Given the description of an element on the screen output the (x, y) to click on. 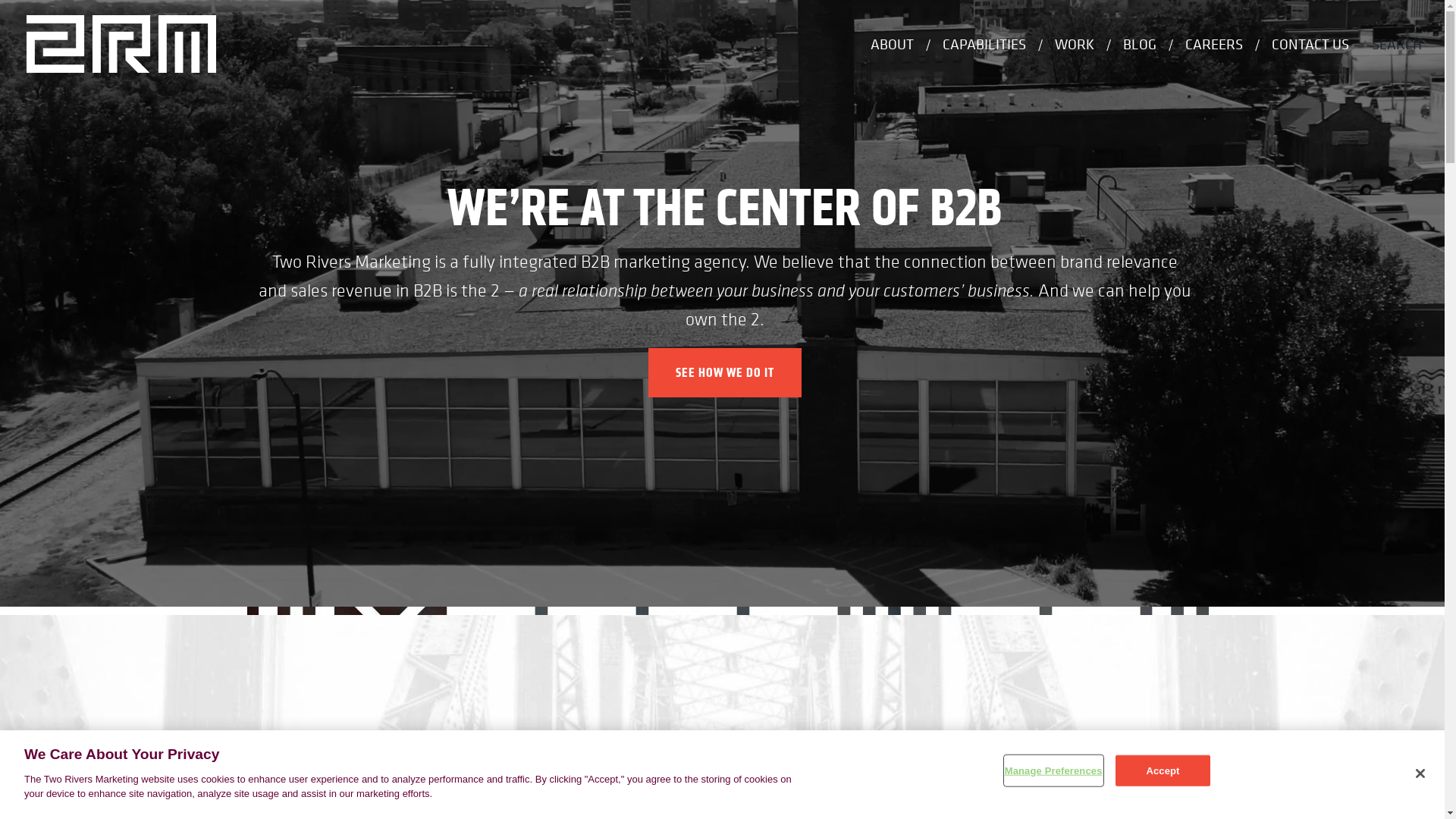
CAREERS Element type: text (1213, 43)
BLOG Element type: text (1139, 43)
Accept Element type: text (1162, 770)
SEE HOW WE DO IT Element type: text (724, 372)
Manage Preferences Element type: text (1053, 770)
ABOUT Element type: text (892, 43)
WORK Element type: text (1074, 43)
CONTACT US Element type: text (1310, 43)
CAPABILITIES Element type: text (984, 43)
SEARCH Element type: text (1396, 43)
